Given the description of an element on the screen output the (x, y) to click on. 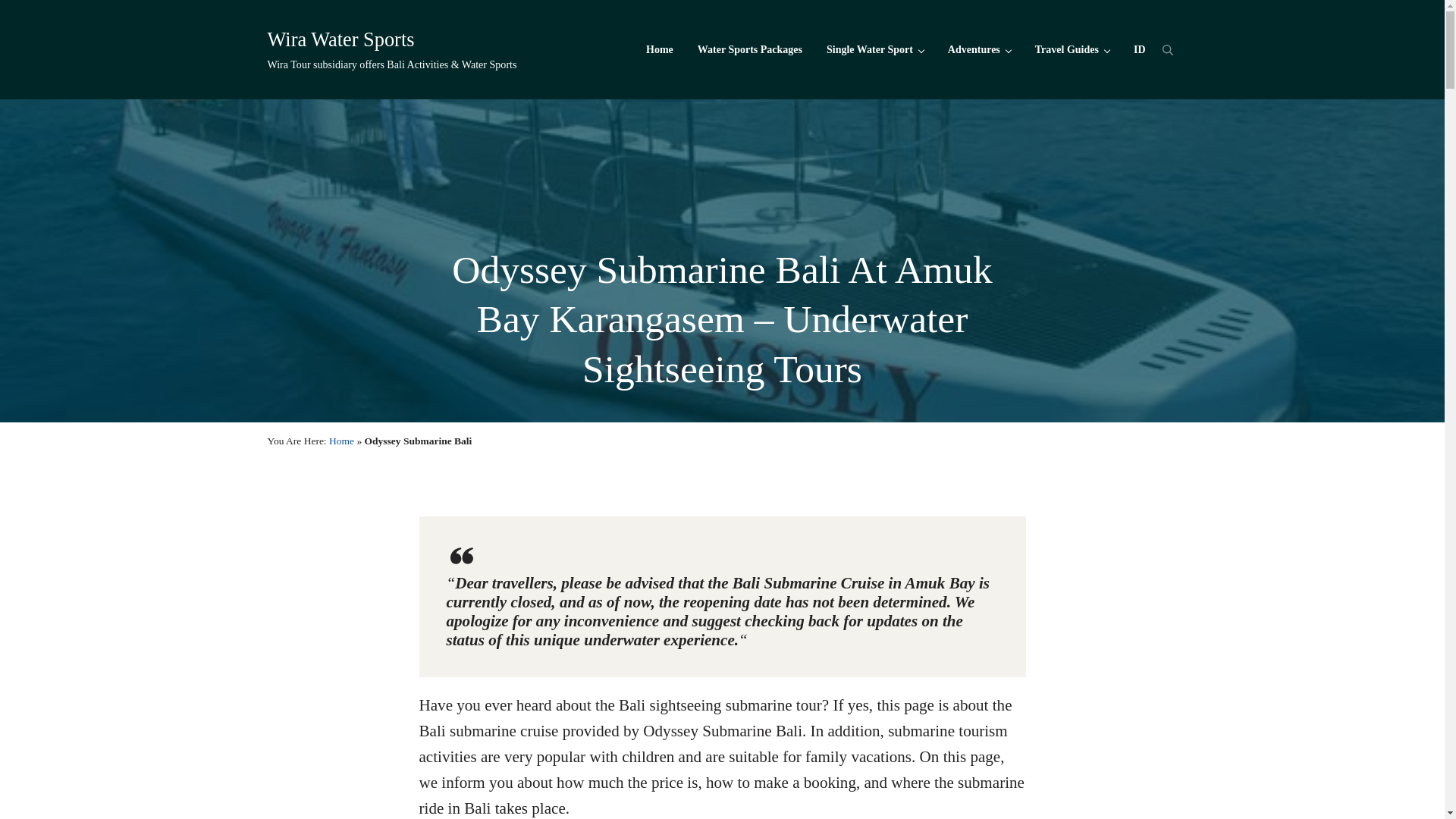
Indonesian Language (1139, 49)
Adventures (979, 49)
Travel Guides (1072, 49)
Travel Guides (1072, 49)
Single Water Sport (874, 49)
Water Sports Packages (749, 49)
Water Sports Packages (749, 49)
Wira Water Sports (339, 39)
Tanjung Benoa Water Sports (874, 49)
